Given the description of an element on the screen output the (x, y) to click on. 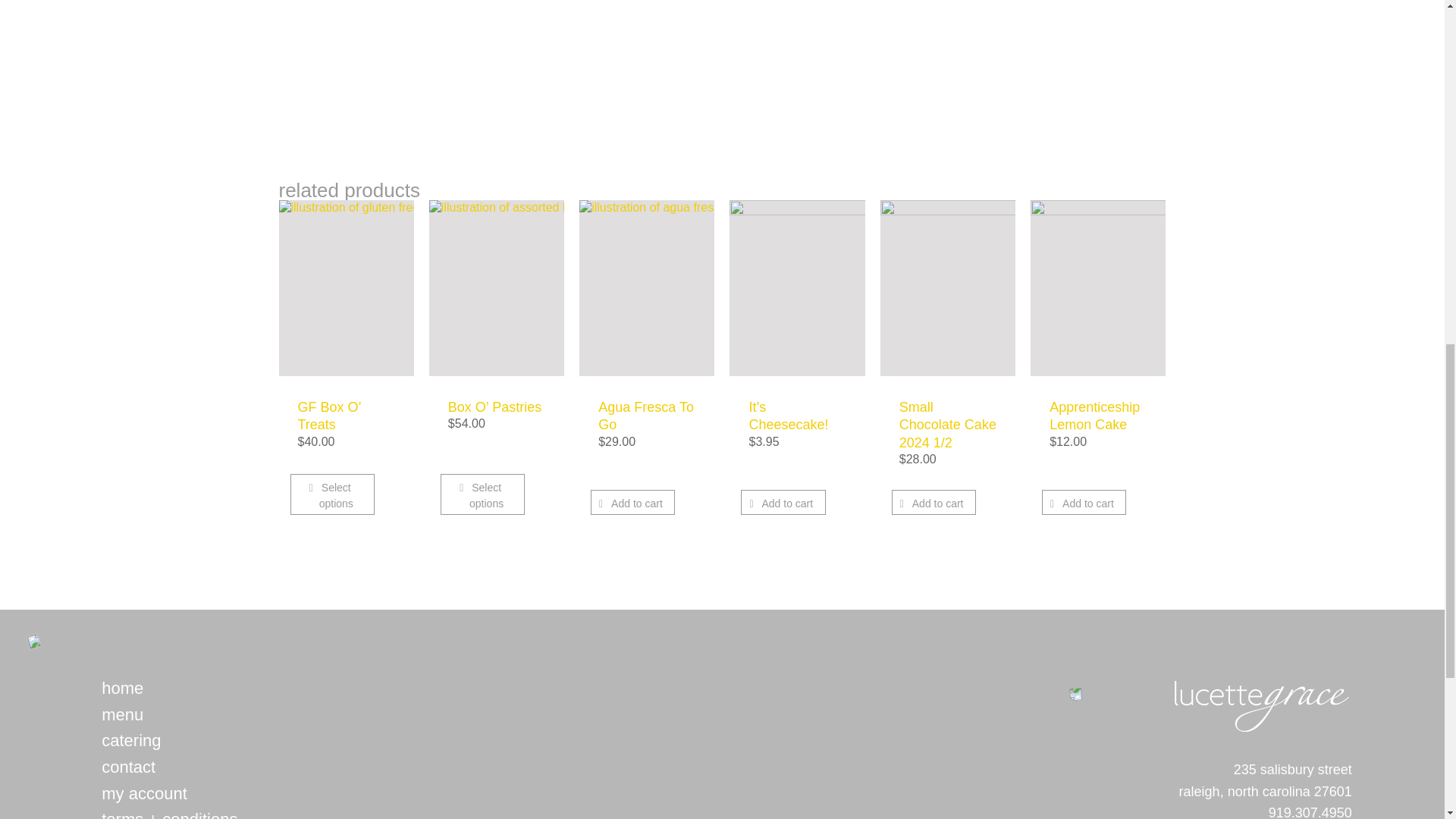
Add to cart (783, 502)
Select options (331, 494)
Select options (482, 494)
Add to cart (633, 502)
Agua Fresca To Go (646, 415)
